Given the description of an element on the screen output the (x, y) to click on. 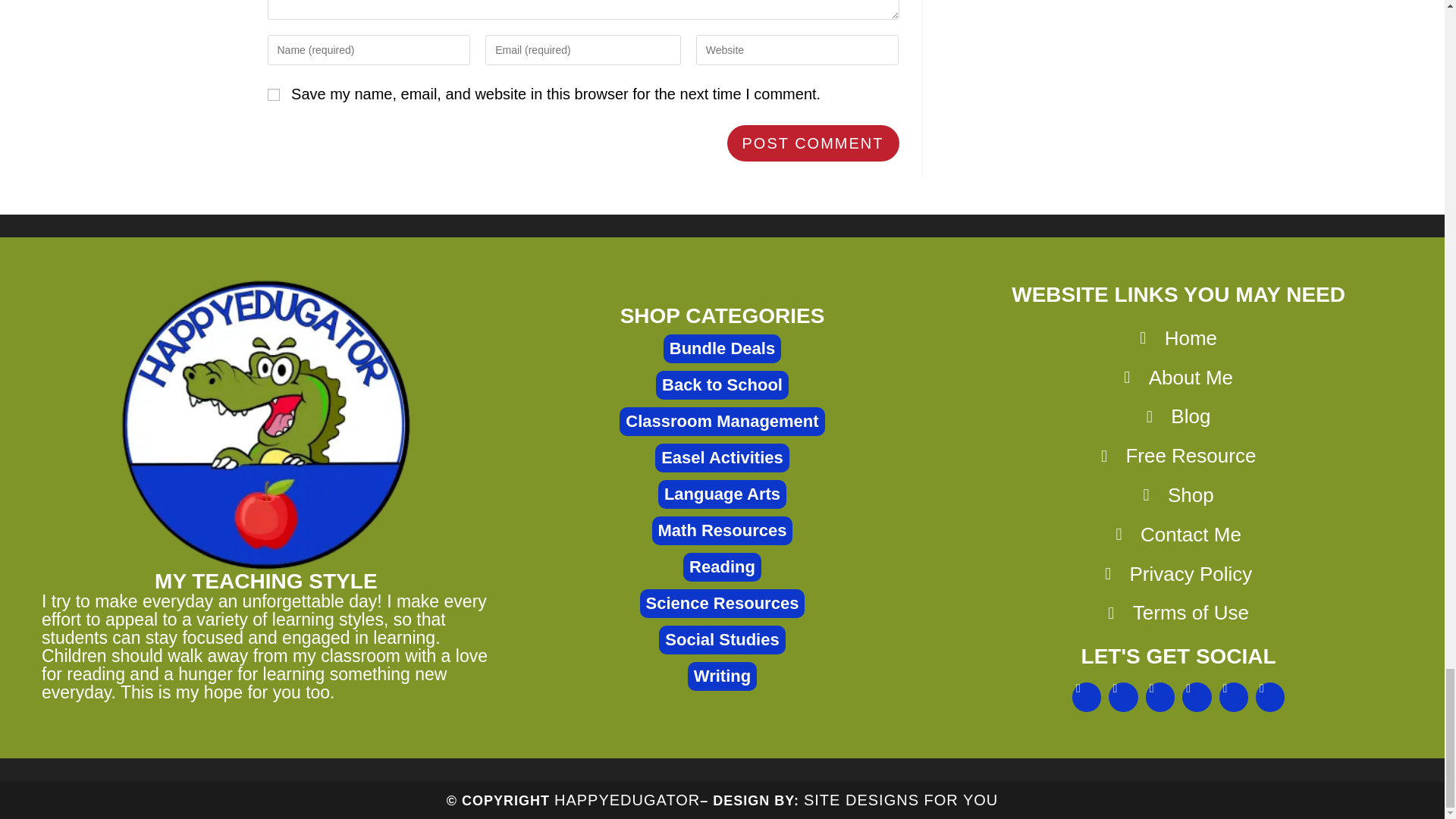
yes (272, 94)
Post Comment (812, 143)
